Given the description of an element on the screen output the (x, y) to click on. 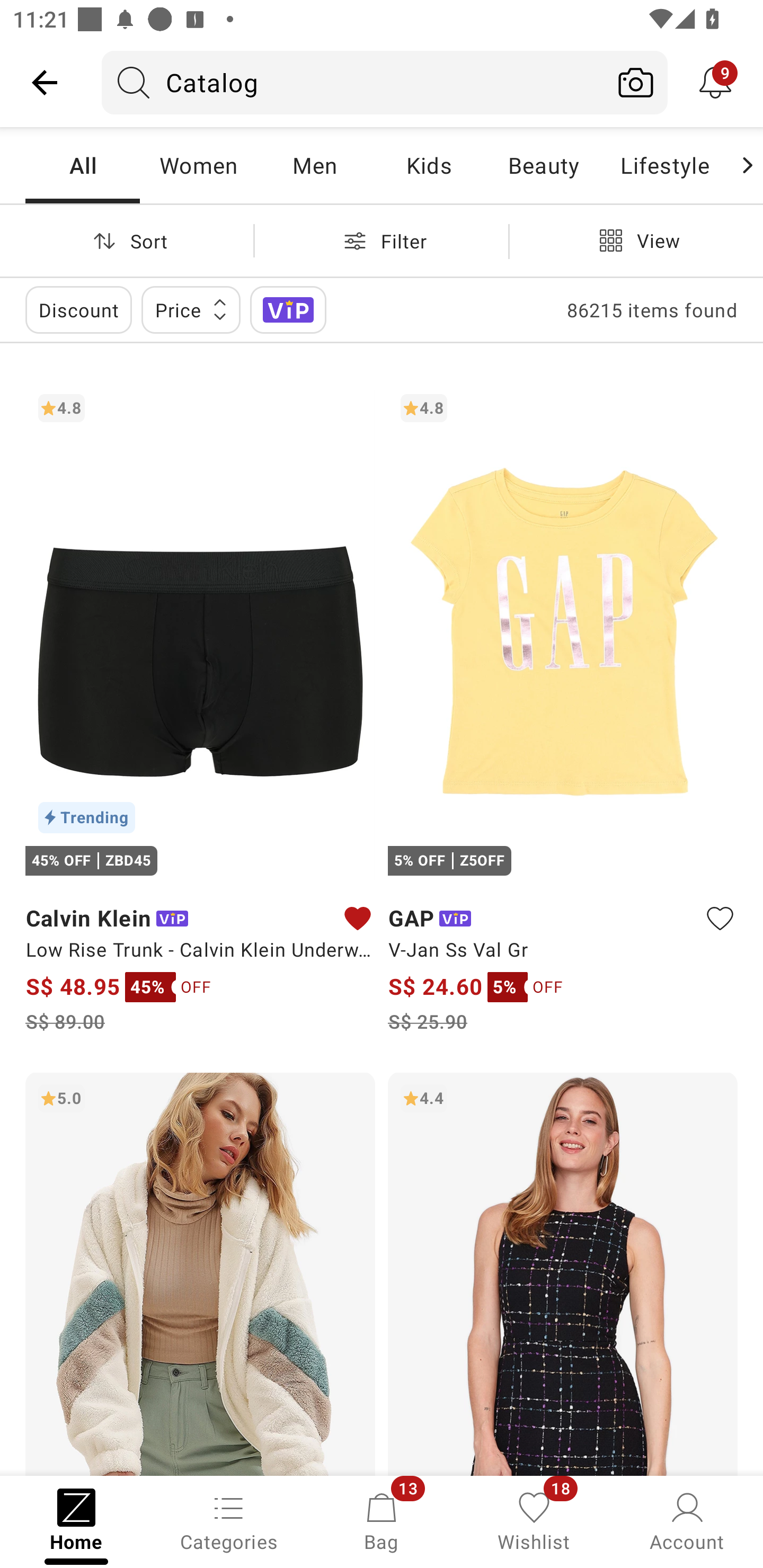
Navigate up (44, 82)
Catalog (352, 82)
Women (198, 165)
Men (314, 165)
Kids (428, 165)
Beauty (543, 165)
Lifestyle (664, 165)
Sort (126, 240)
Filter (381, 240)
View (636, 240)
Discount (78, 309)
Price (190, 309)
5.0 (200, 1272)
4.4 (562, 1272)
Categories (228, 1519)
Bag, 13 new notifications Bag (381, 1519)
Wishlist, 18 new notifications Wishlist (533, 1519)
Account (686, 1519)
